Given the description of an element on the screen output the (x, y) to click on. 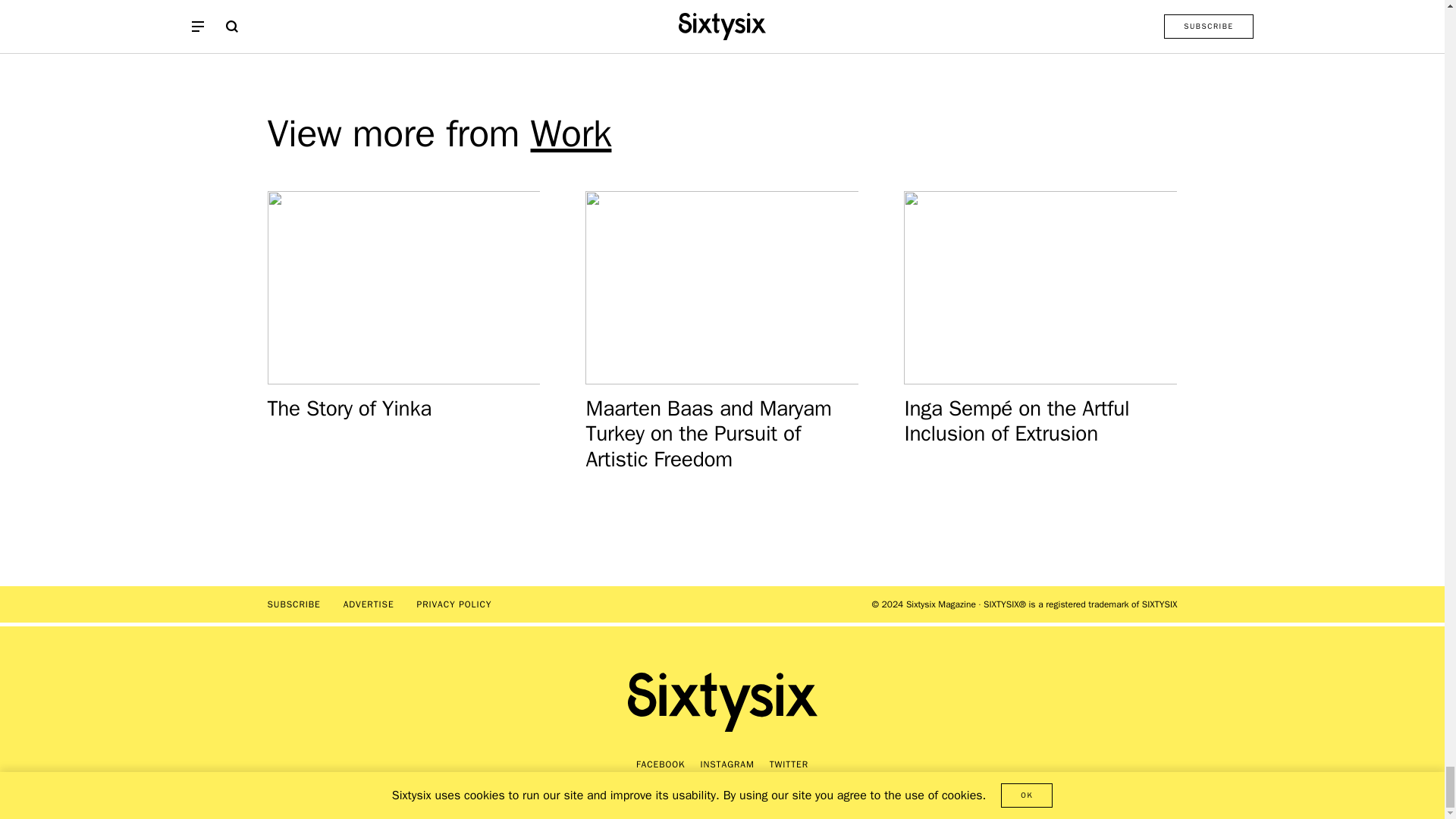
SCULPTURE (551, 13)
ART (503, 13)
Work (571, 134)
The Story of Yinka (418, 331)
Sixtysix Magazine (721, 701)
